Given the description of an element on the screen output the (x, y) to click on. 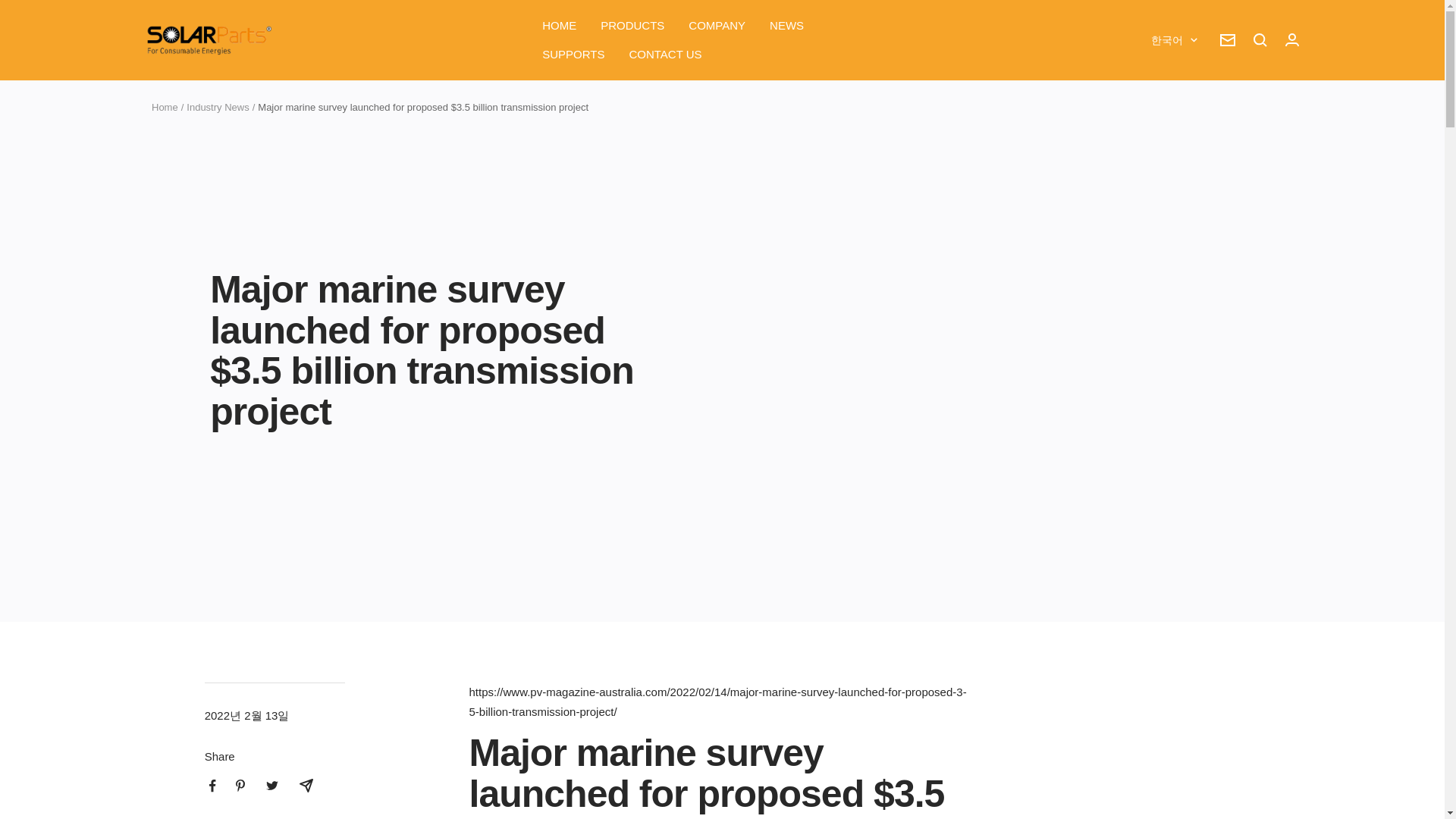
en (1162, 92)
PRODUCTS (631, 25)
ko (1162, 242)
ru (1162, 267)
COMPANY (716, 25)
solarparts (207, 40)
NEWS (786, 25)
ja (1162, 167)
fr (1162, 142)
CONTACT US (664, 54)
